Given the description of an element on the screen output the (x, y) to click on. 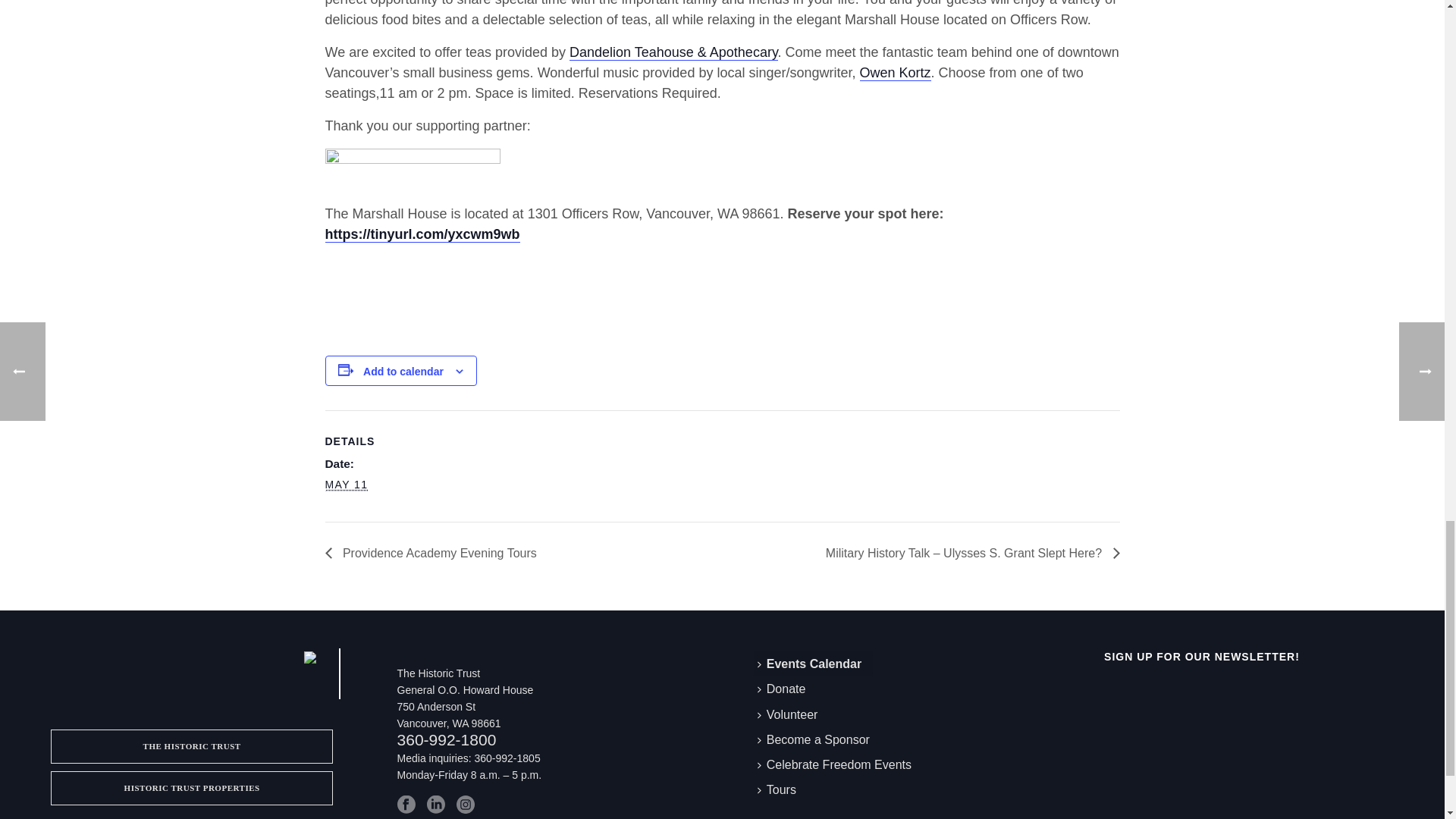
Follow Us on linkedin (435, 804)
Follow Us on instagram (465, 804)
2024-05-11 (346, 484)
Follow Us on facebook (405, 804)
